Given the description of an element on the screen output the (x, y) to click on. 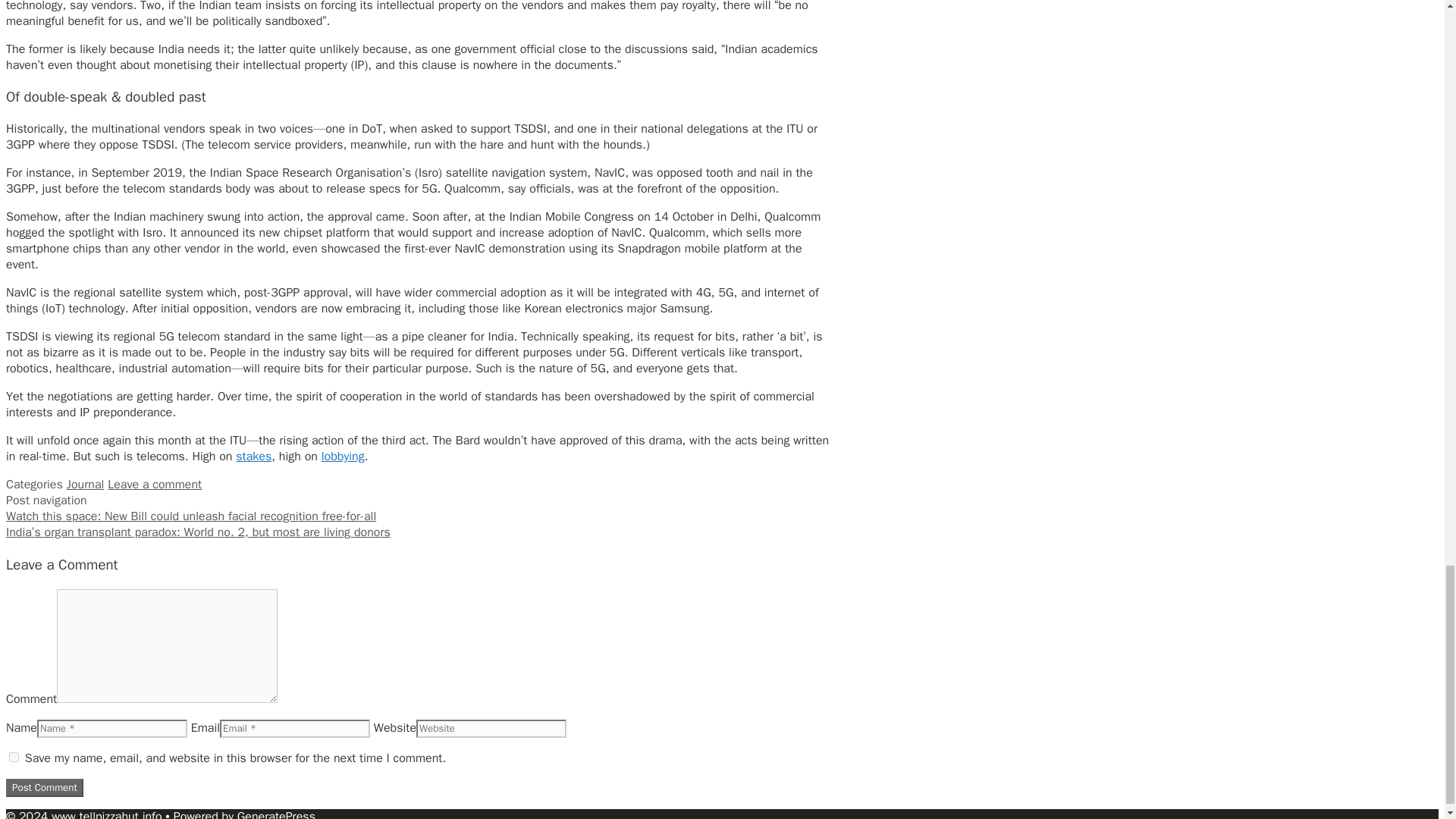
Post Comment (43, 787)
lobbying (343, 456)
Leave a comment (154, 484)
Previous (190, 516)
stakes (252, 456)
yes (13, 757)
Post Comment (43, 787)
Next (197, 531)
Journal (85, 484)
